Given the description of an element on the screen output the (x, y) to click on. 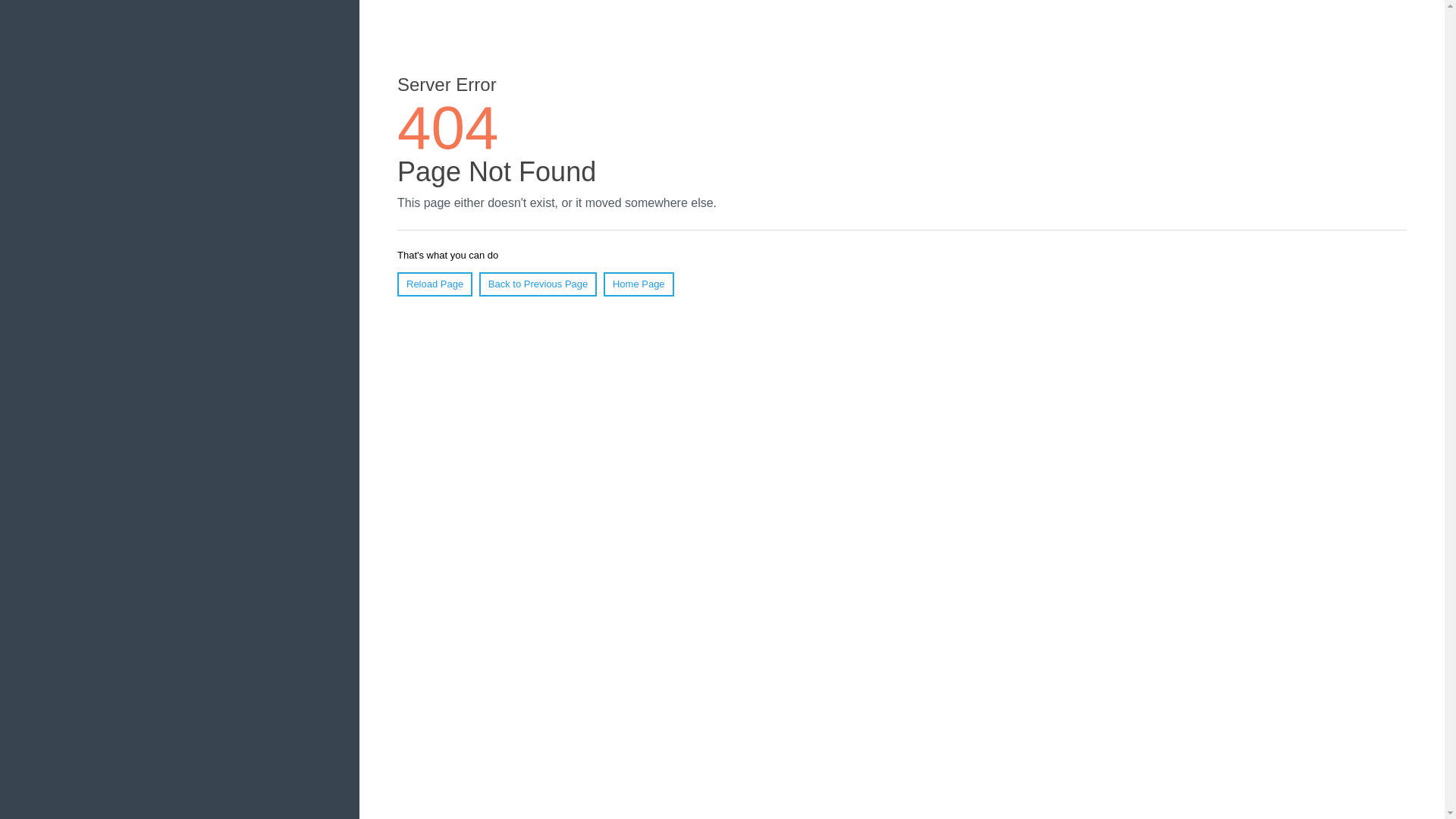
Home Page Element type: text (638, 284)
Reload Page Element type: text (434, 284)
Back to Previous Page Element type: text (538, 284)
